Given the description of an element on the screen output the (x, y) to click on. 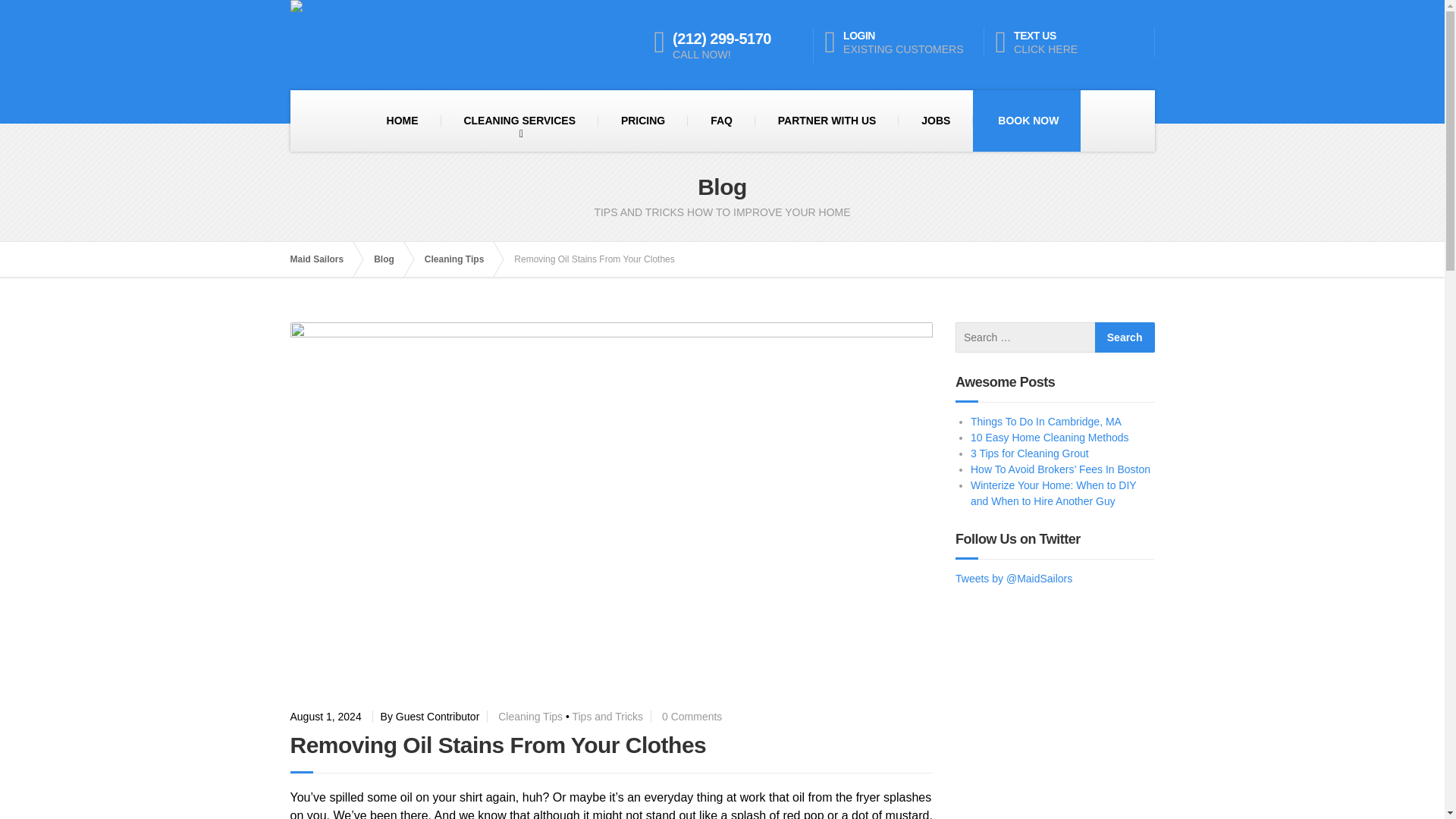
Search (1124, 337)
Cleaning Tips (529, 716)
Cleaning Tips (462, 258)
Maid Sailors (323, 258)
Blog (391, 258)
10 Easy Home Cleaning Methods (1050, 437)
JOBS (935, 120)
Search (1124, 337)
PRICING (642, 120)
Tips and Tricks (607, 716)
Go to the Cleaning Tips Category archives. (462, 258)
HOME (402, 120)
Go to Maid Sailors. (904, 42)
BOOK NOW (323, 258)
